Given the description of an element on the screen output the (x, y) to click on. 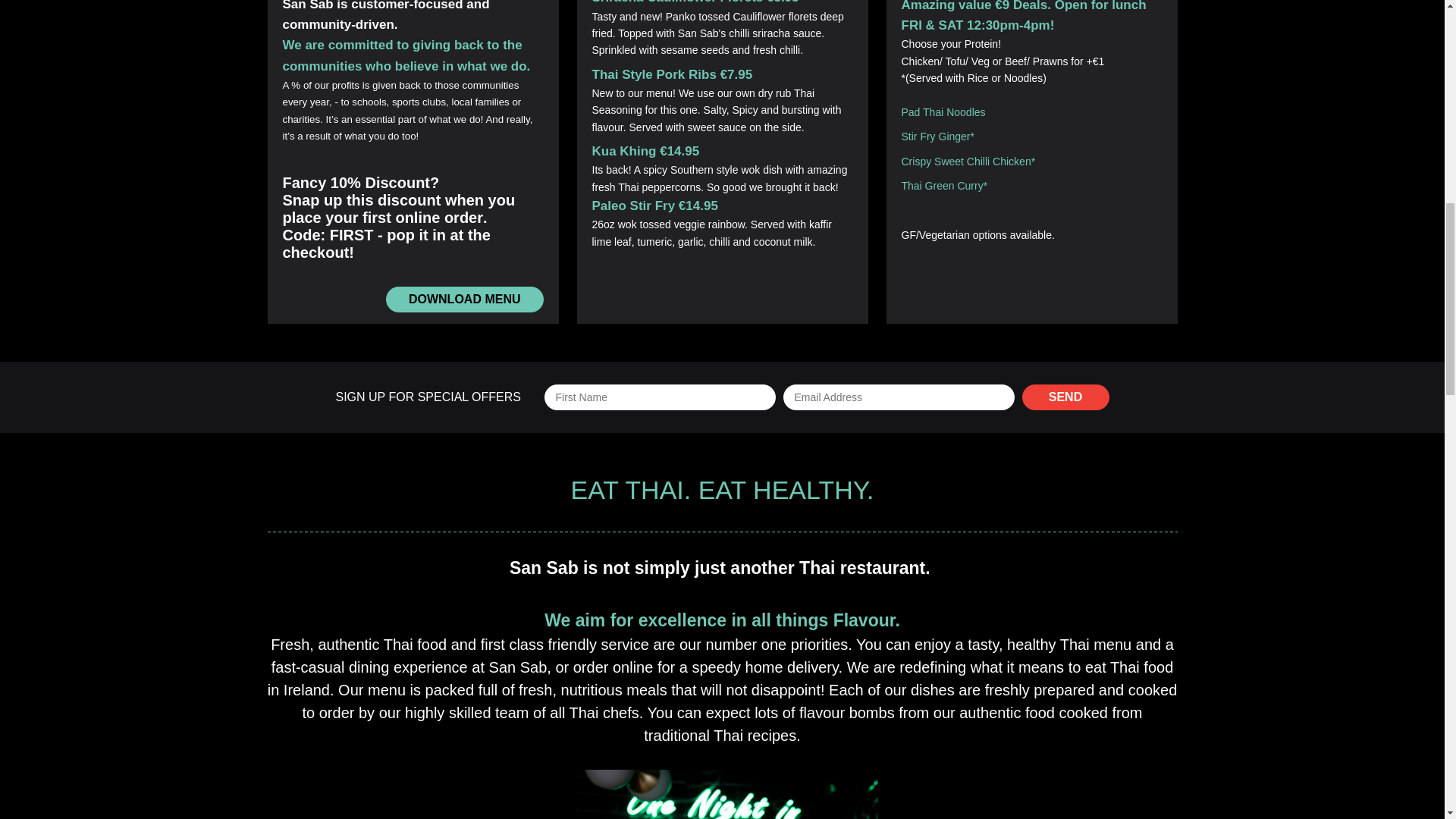
SEND (1065, 397)
DOWNLOAD MENU (464, 299)
